Given the description of an element on the screen output the (x, y) to click on. 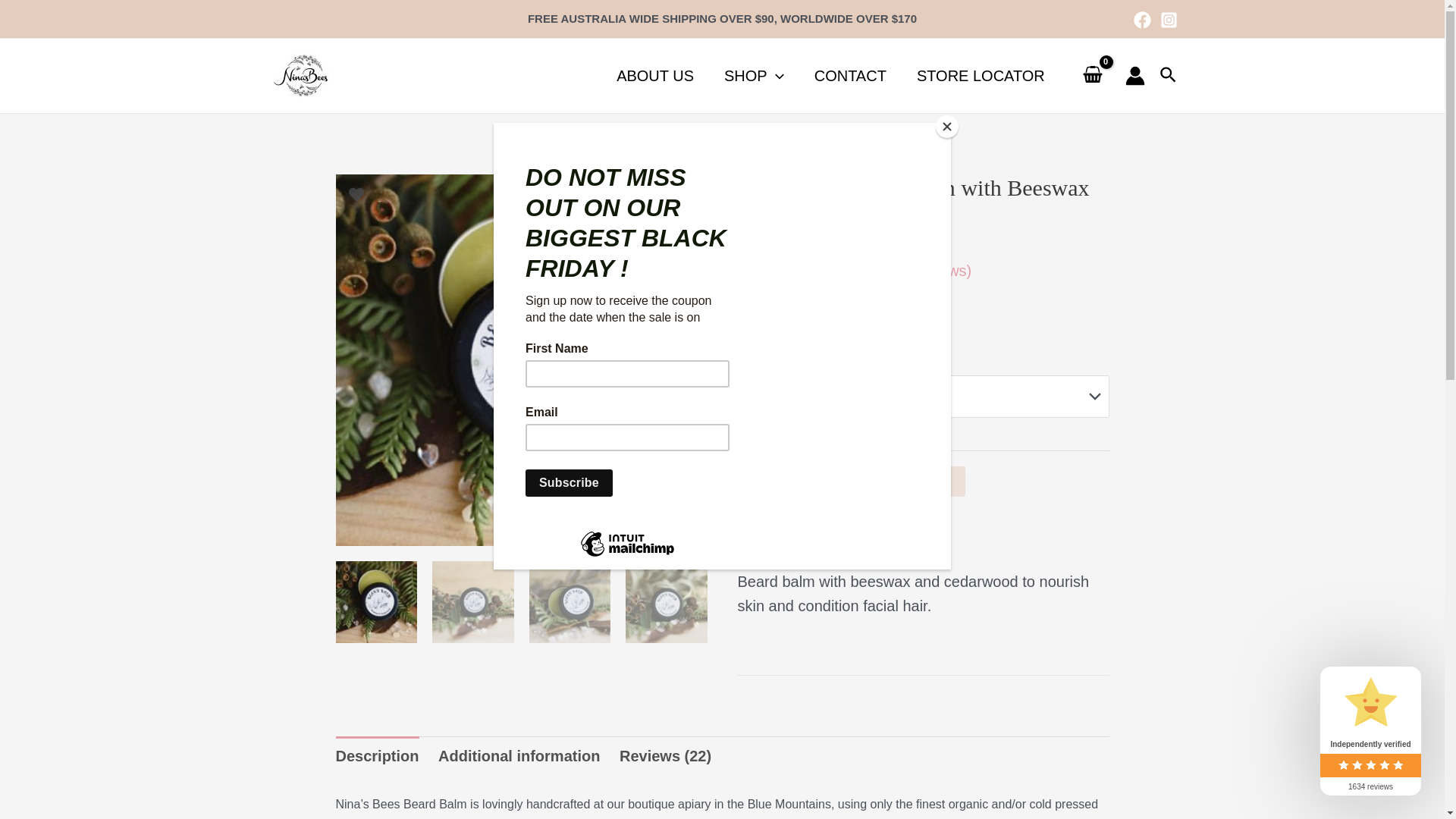
ABOUT US Element type: text (655, 75)
(22 customer reviews) Element type: text (896, 270)
Reviews (22) Element type: text (665, 755)
SHOP Element type: text (754, 75)
CONTACT Element type: text (850, 75)
Add to cart Element type: text (909, 481)
- Element type: text (751, 483)
Add to Wish list Element type: text (829, 535)
+ Element type: text (820, 483)
STORE LOCATOR Element type: text (980, 75)
Description Element type: text (376, 755)
Additional information Element type: text (518, 755)
